Given the description of an element on the screen output the (x, y) to click on. 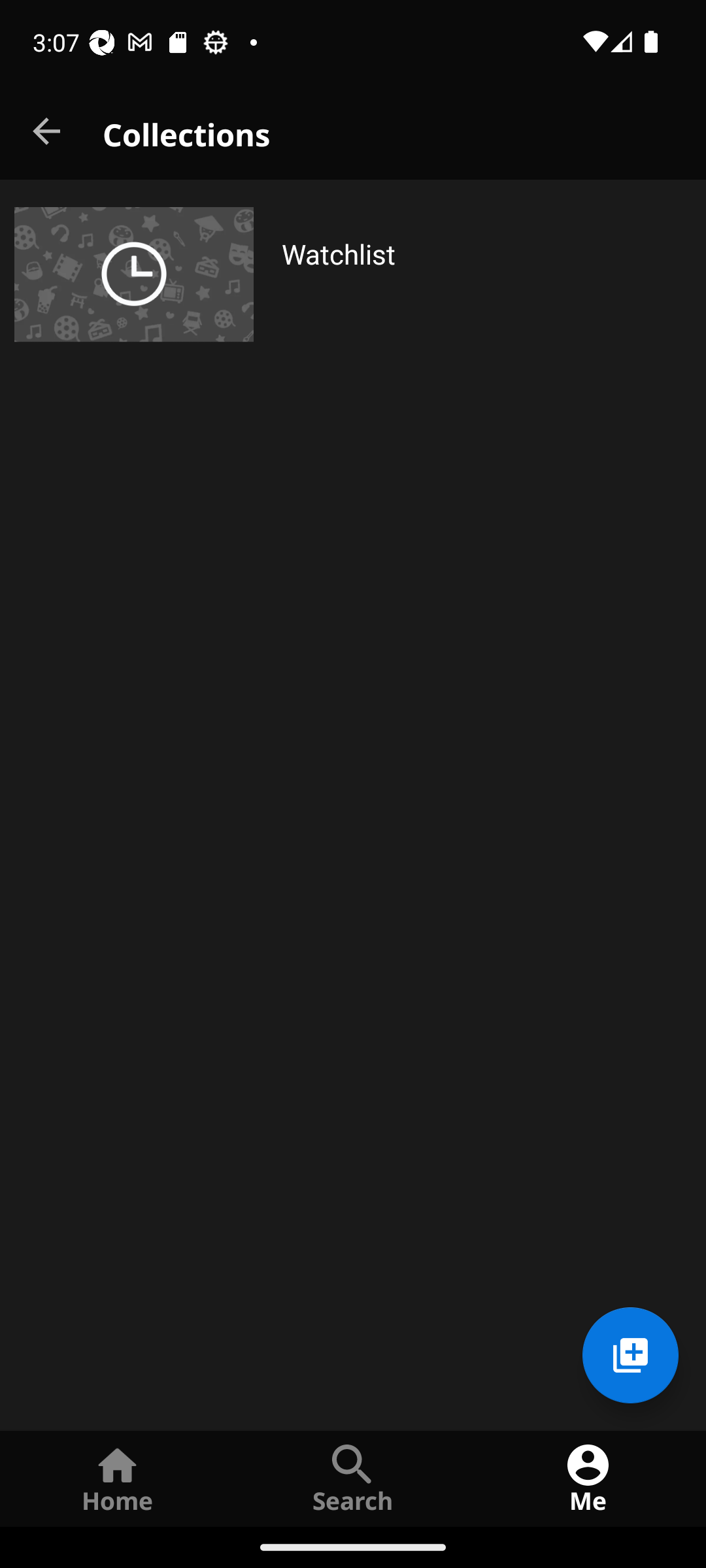
Navigate up (48, 131)
profile_page_user_collection_0 Watchlist (352, 273)
Home (117, 1478)
Search (352, 1478)
